Given the description of an element on the screen output the (x, y) to click on. 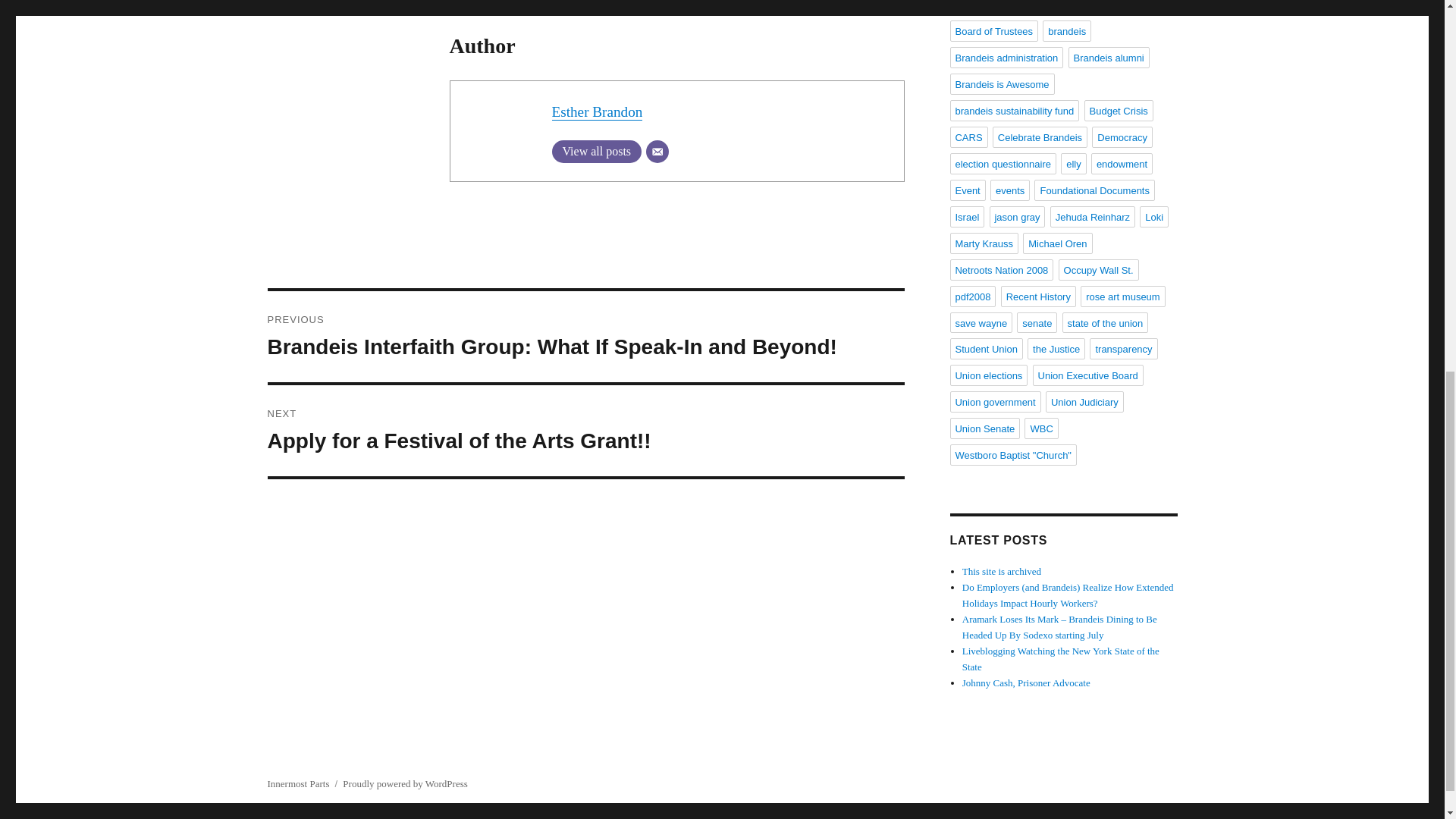
View all posts (596, 151)
Esther Brandon (597, 111)
Esther Brandon (597, 111)
View all posts (585, 429)
